Given the description of an element on the screen output the (x, y) to click on. 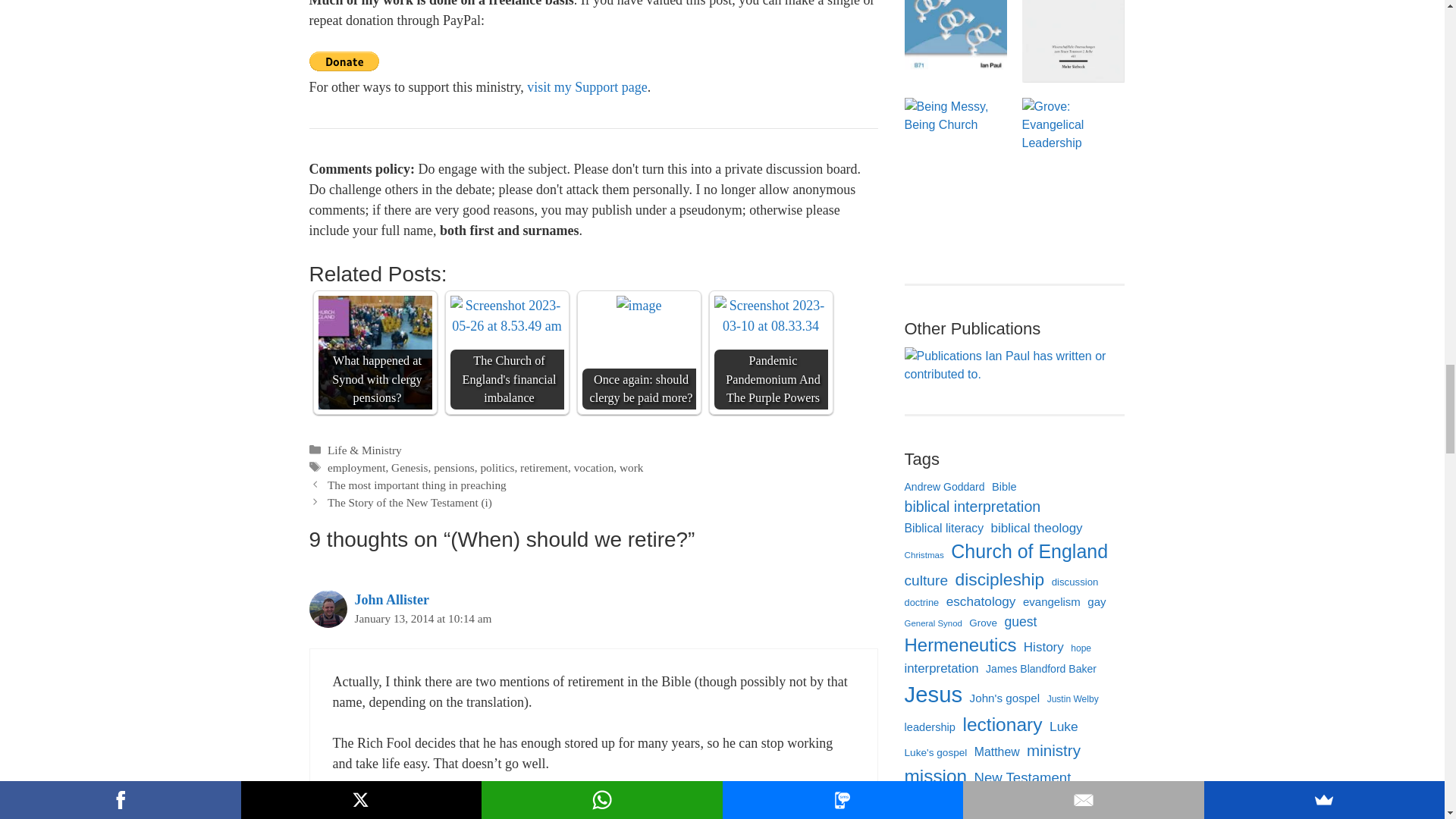
The Church of England's financial imbalance (506, 315)
Pandemic Pandemonium And The Purple Powers (771, 315)
What happened at Synod with clergy pensions? (375, 352)
visit my Support page (587, 87)
Once again: should clergy be paid more? (638, 305)
